Given the description of an element on the screen output the (x, y) to click on. 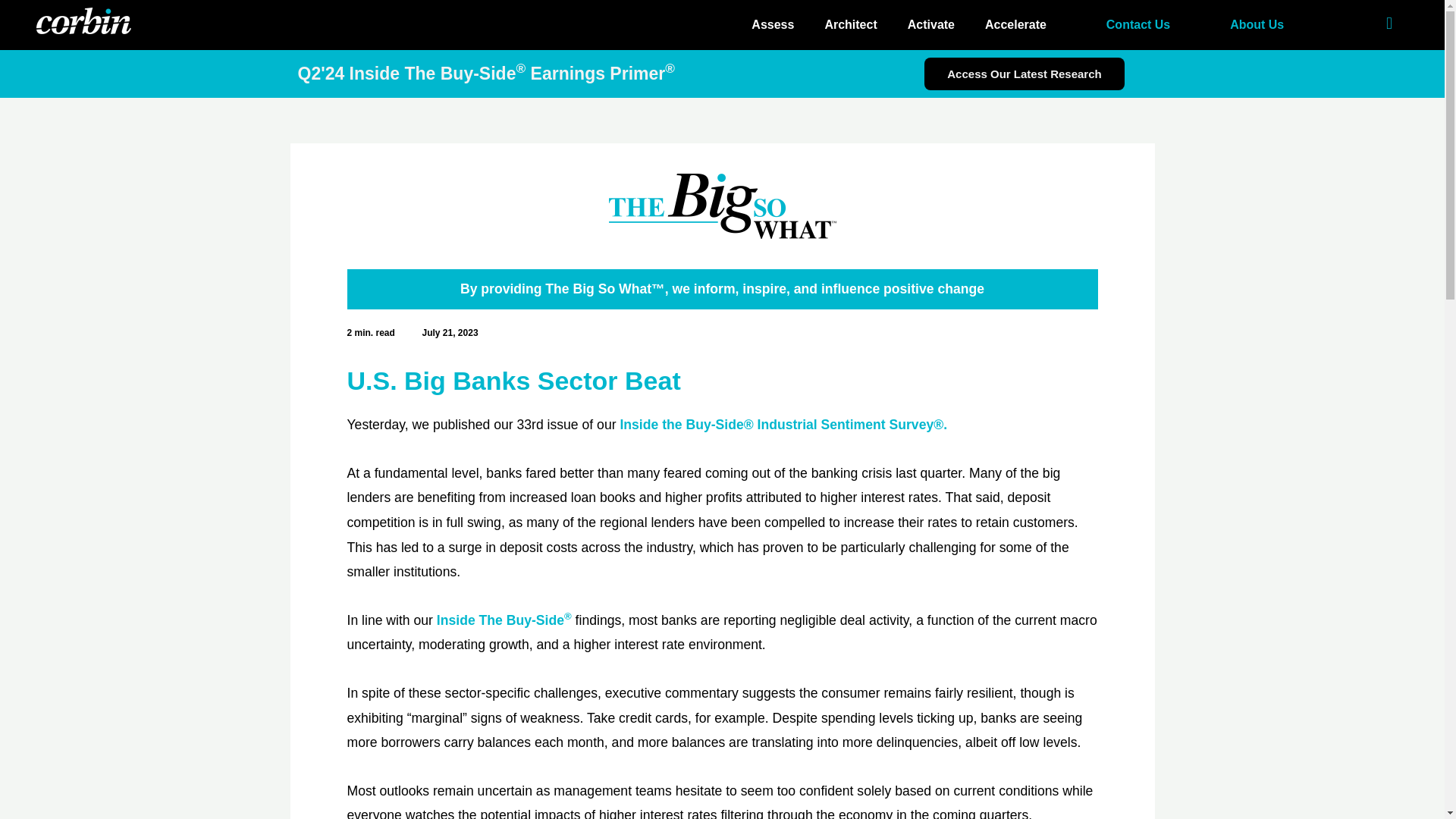
About Us (1256, 24)
Contact Us (1137, 24)
Accelerate (1015, 24)
Corbin-Advisors-RGB-white (83, 20)
Architect (850, 24)
Activate (930, 24)
Assess (772, 24)
